Given the description of an element on the screen output the (x, y) to click on. 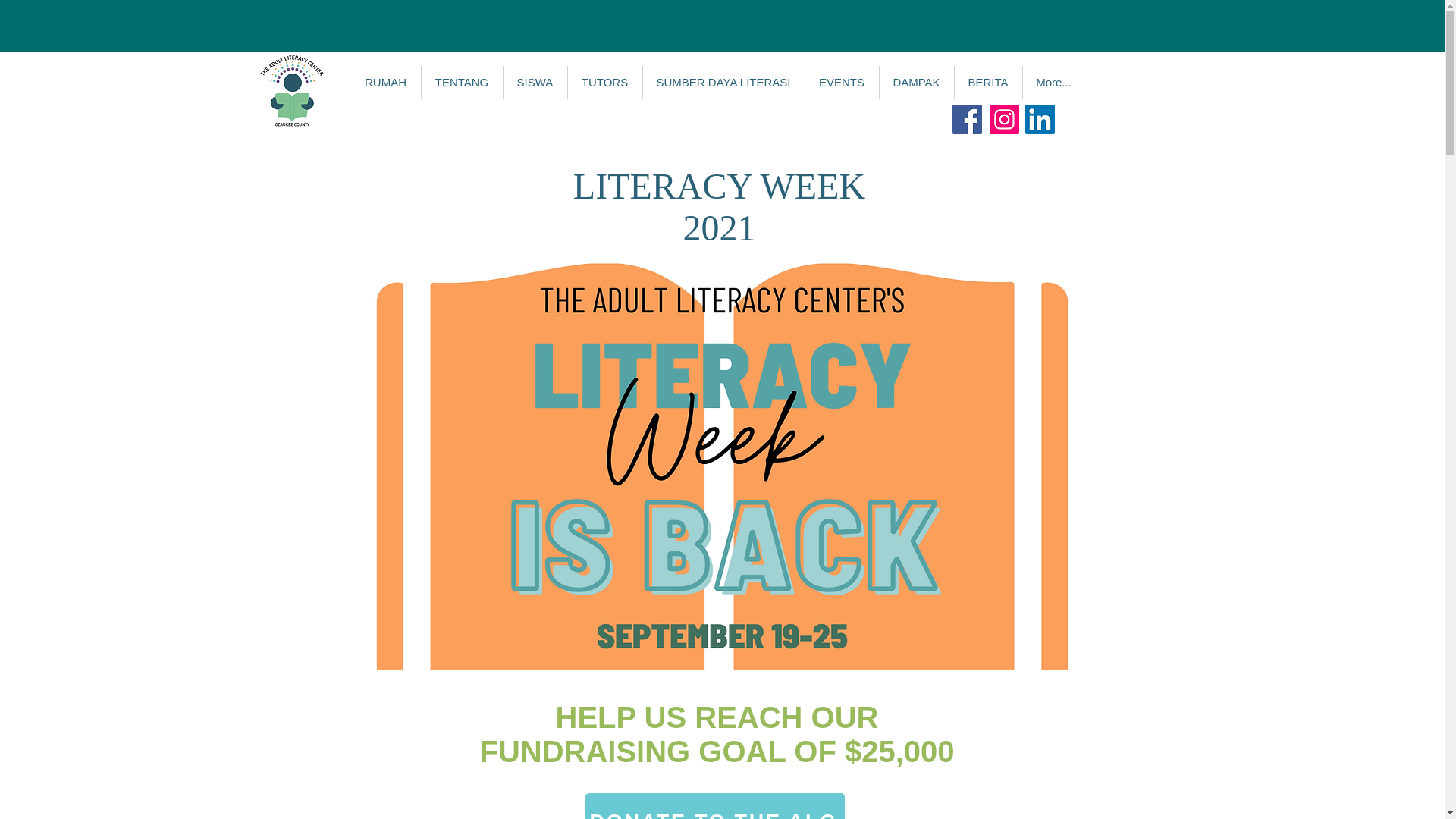
SUMBER DAYA LITERASI (722, 82)
EVENTS (840, 82)
DONATE TO THE ALC (714, 806)
RUMAH (385, 82)
